Given the description of an element on the screen output the (x, y) to click on. 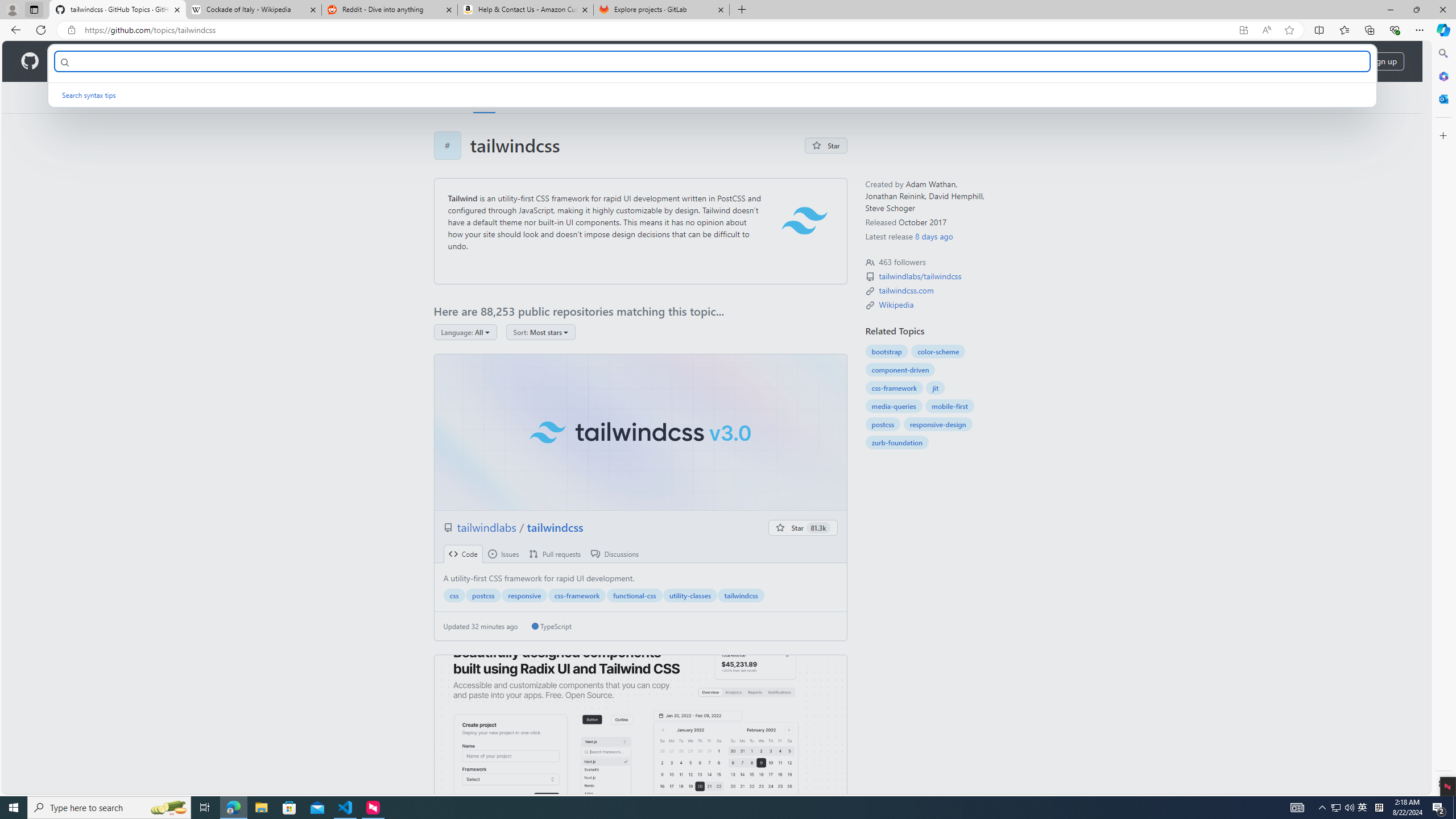
GitHub Sponsors (671, 97)
